Given the description of an element on the screen output the (x, y) to click on. 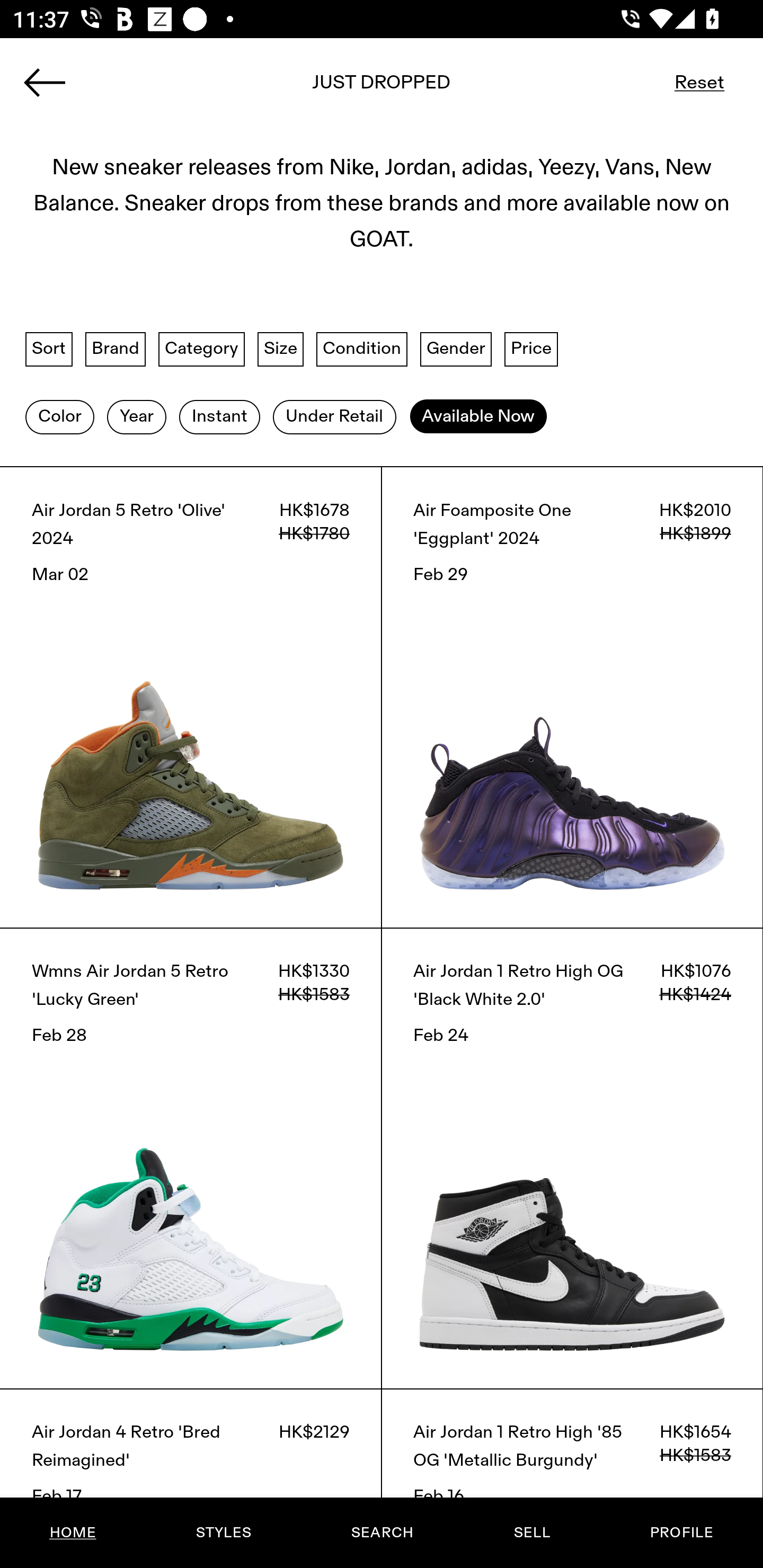
Reset (699, 82)
slippers (381, 88)
Sort (48, 348)
Brand (115, 348)
Category (201, 348)
Size (280, 348)
Condition (361, 348)
Gender (455, 348)
Price (530, 348)
Color (59, 416)
Year (136, 416)
Instant (219, 416)
Under Retail (334, 416)
Available Now (477, 416)
HOME (72, 1532)
STYLES (222, 1532)
SEARCH (381, 1532)
SELL (531, 1532)
PROFILE (681, 1532)
